Given the description of an element on the screen output the (x, y) to click on. 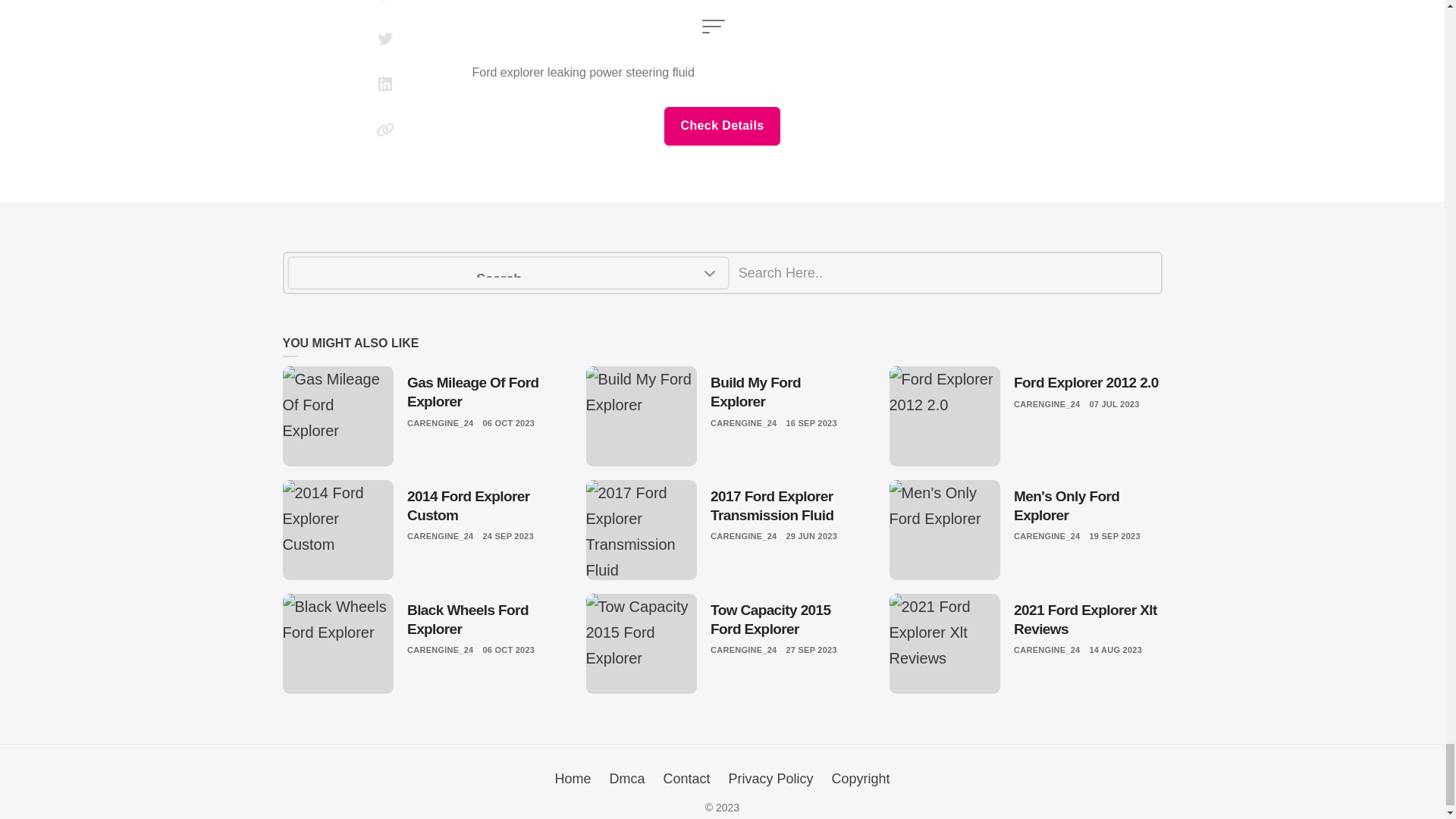
2014 Ford Explorer Custom (480, 505)
Dmca (626, 778)
Check Details (720, 126)
Gas Mileage Of Ford Explorer (480, 392)
Men's Only Ford Explorer (1087, 505)
2017 Ford Explorer Transmission Fluid (784, 505)
Tow Capacity 2015 Ford Explorer (784, 619)
Black Wheels Ford Explorer (480, 619)
Build My Ford Explorer (784, 392)
Ford Explorer 2012 2.0 (1087, 383)
Home (572, 778)
2021 Ford Explorer Xlt Reviews (1087, 619)
